Given the description of an element on the screen output the (x, y) to click on. 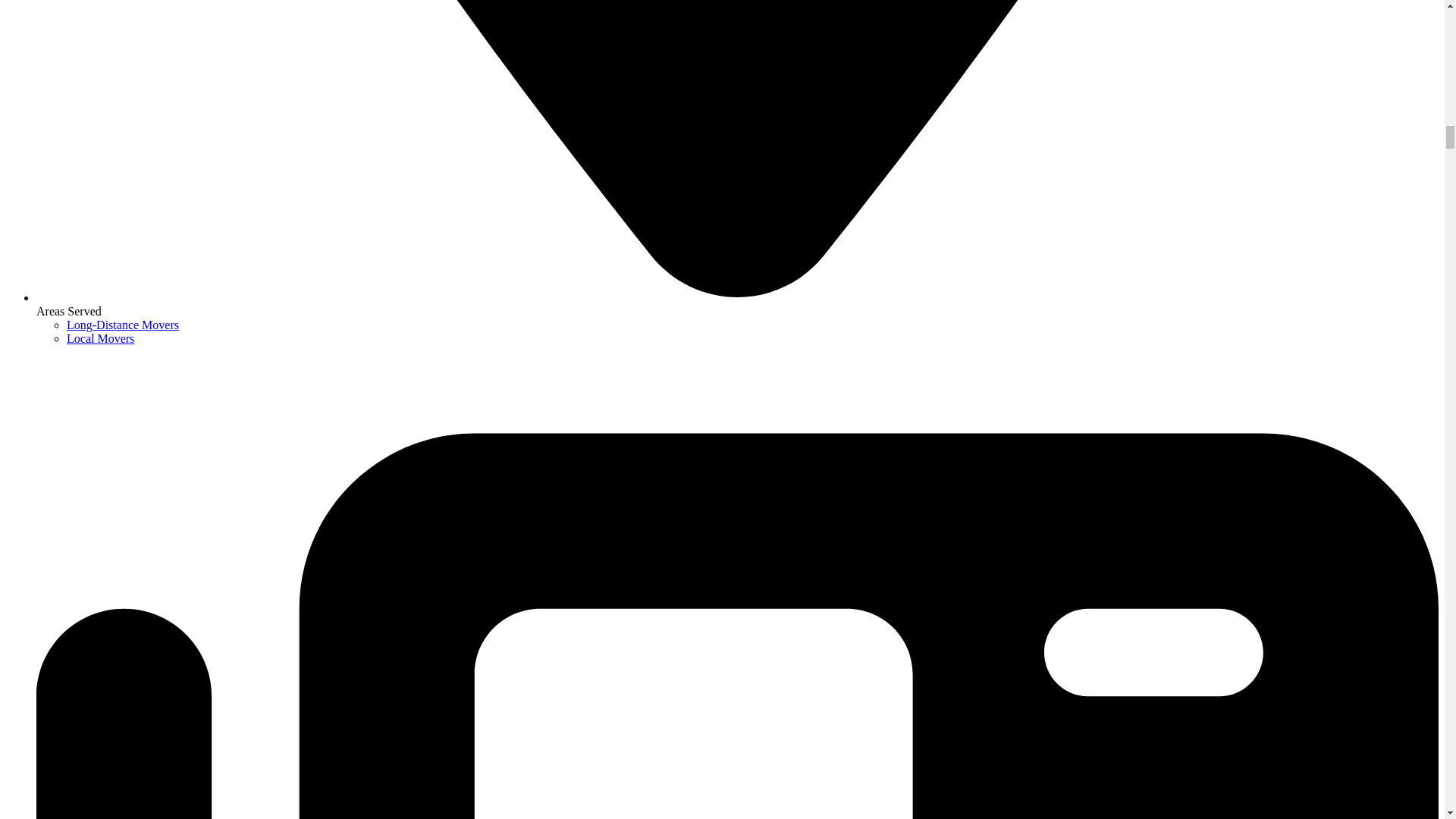
Local Movers (99, 338)
Long-Distance Movers (122, 324)
